Given the description of an element on the screen output the (x, y) to click on. 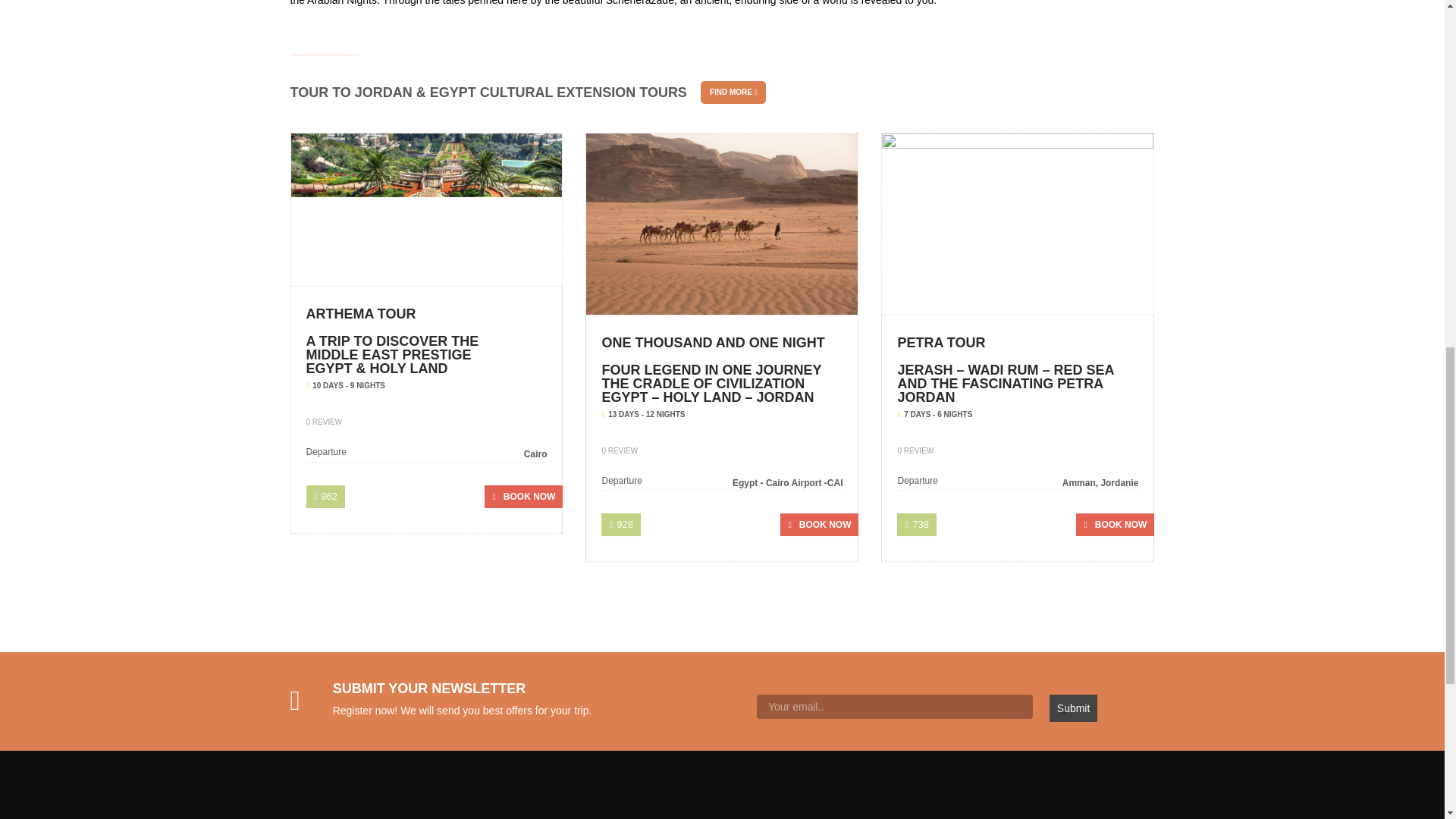
BOOK NOW (523, 496)
BOOK NOW (1114, 524)
Submit (1073, 707)
BOOK NOW (819, 524)
Submit (1073, 707)
FIND MORE (733, 92)
